Given the description of an element on the screen output the (x, y) to click on. 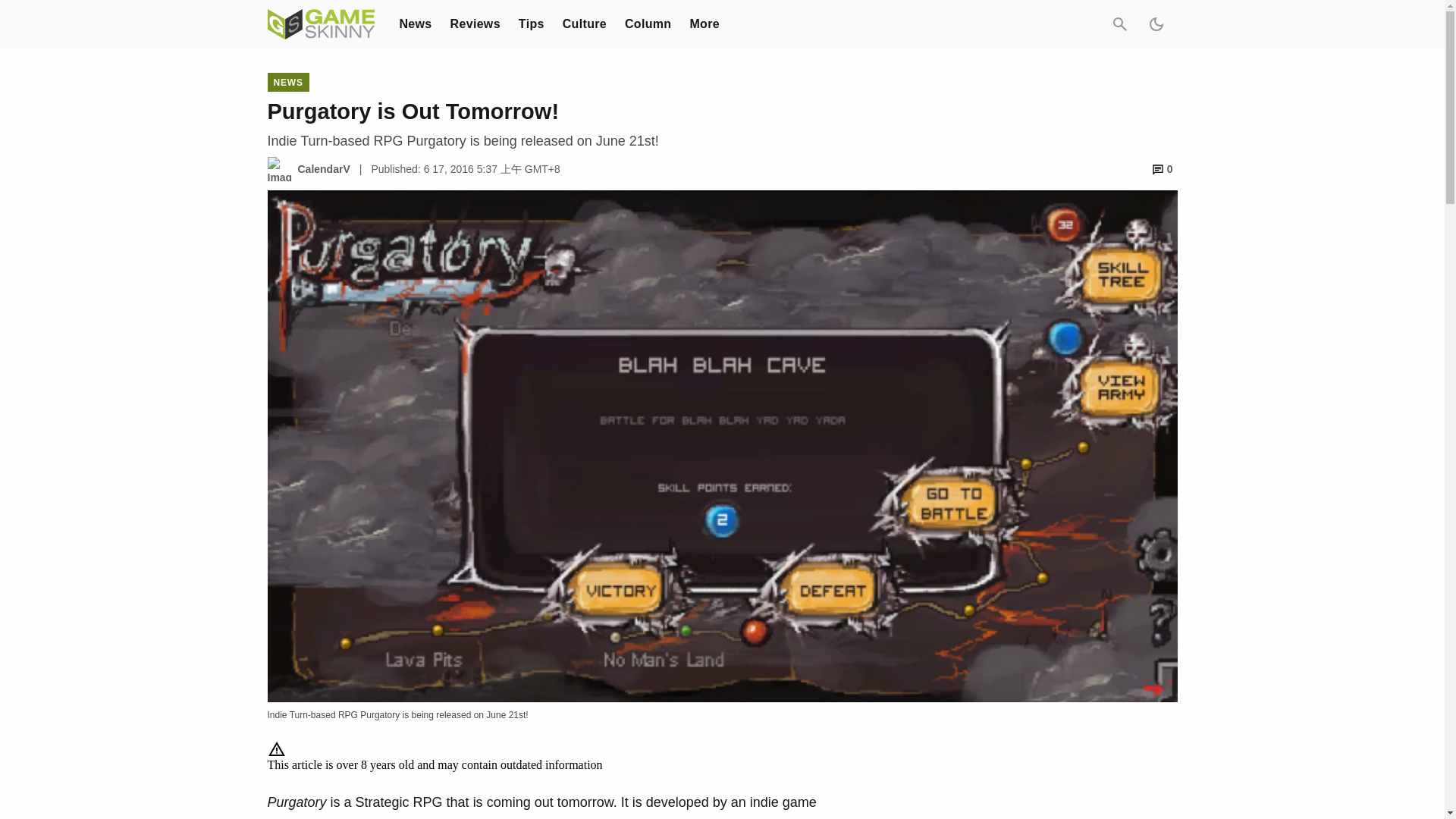
Dark Mode (1155, 24)
Column (647, 23)
News (414, 23)
Reviews (474, 23)
Search (1118, 24)
Culture (584, 23)
Tips (531, 23)
